Given the description of an element on the screen output the (x, y) to click on. 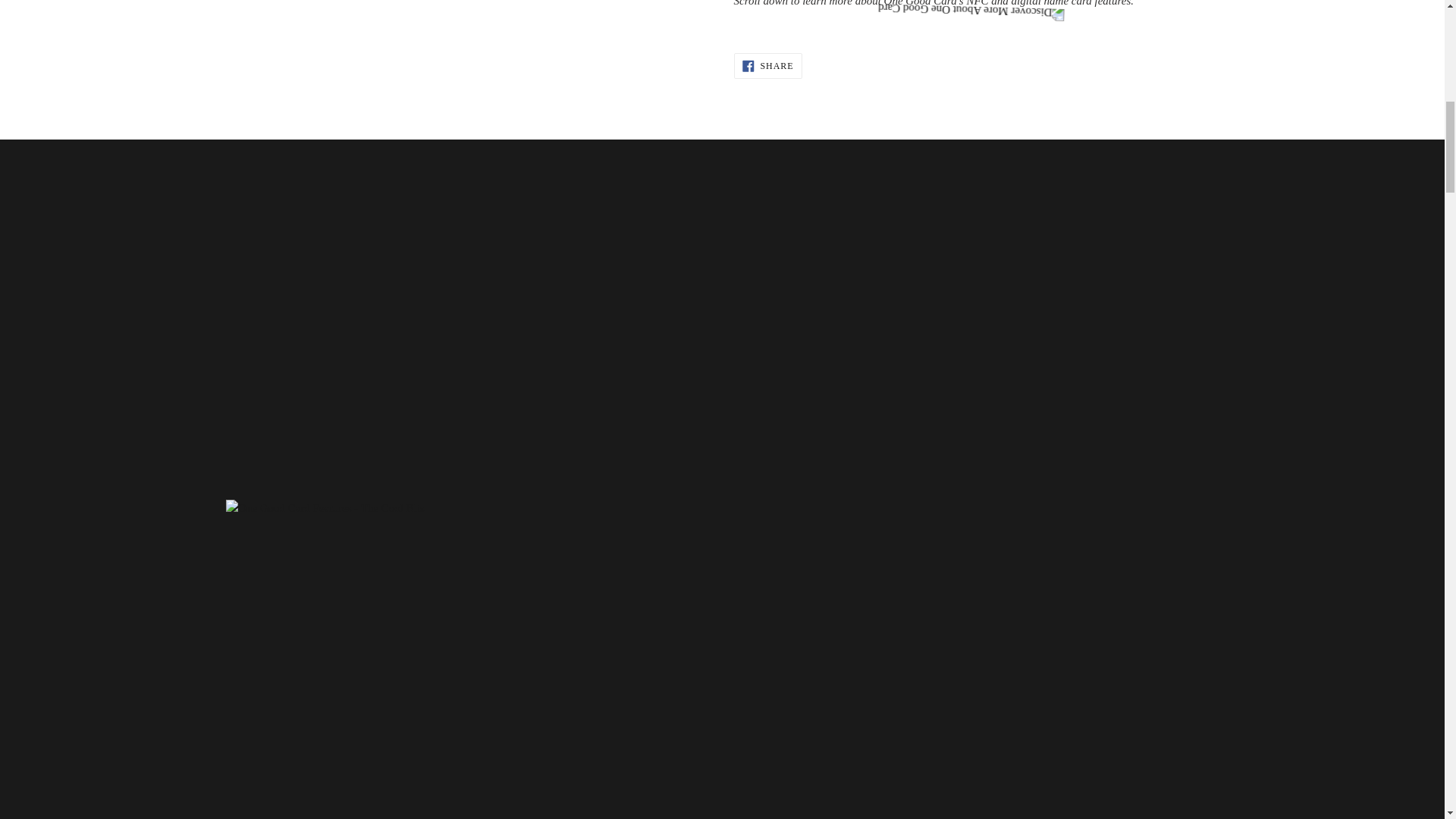
One Good Card Features - The Cool Bits (325, 507)
